Given the description of an element on the screen output the (x, y) to click on. 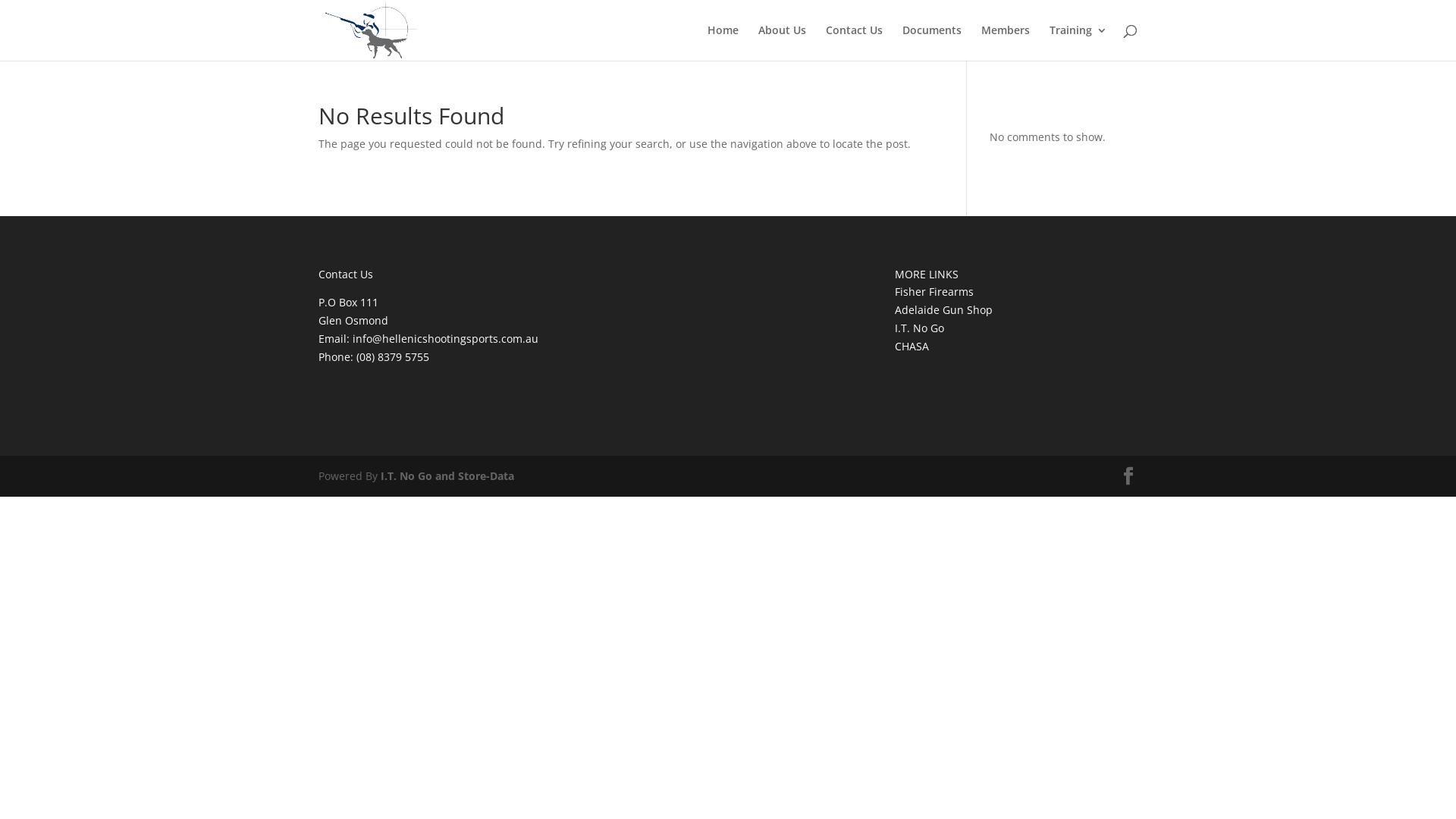
Members Element type: text (1005, 42)
Home Element type: text (722, 42)
Store-Data Element type: text (486, 475)
Contact Us Element type: text (853, 42)
Adelaide Gun Shop Element type: text (943, 309)
I.T. No Go Element type: text (407, 475)
Training Element type: text (1078, 42)
Fisher Firearms Element type: text (933, 291)
and Element type: text (446, 475)
I.T. No Go Element type: text (919, 327)
Documents Element type: text (931, 42)
About Us Element type: text (782, 42)
